Given the description of an element on the screen output the (x, y) to click on. 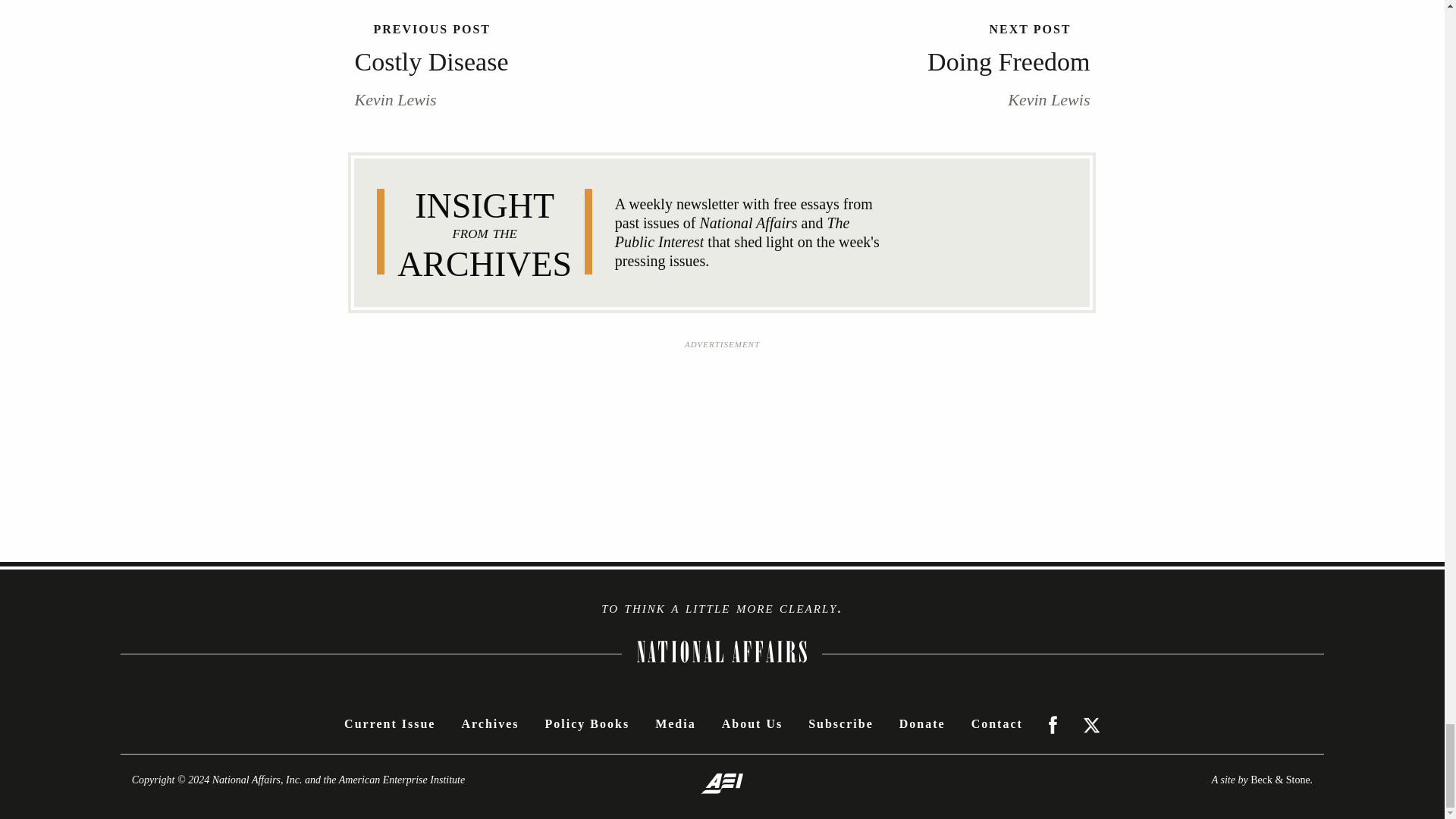
Current Issue (389, 723)
PREVIOUS POST (501, 29)
Media (675, 723)
Archives (489, 723)
Donate (921, 723)
NEXT POST (943, 29)
Kevin Lewis (1048, 99)
Costly Disease (501, 61)
Policy Books (587, 723)
Subscribe (840, 723)
About Us (752, 723)
Kevin Lewis (395, 99)
Doing Freedom (943, 61)
Contact (997, 723)
